Given the description of an element on the screen output the (x, y) to click on. 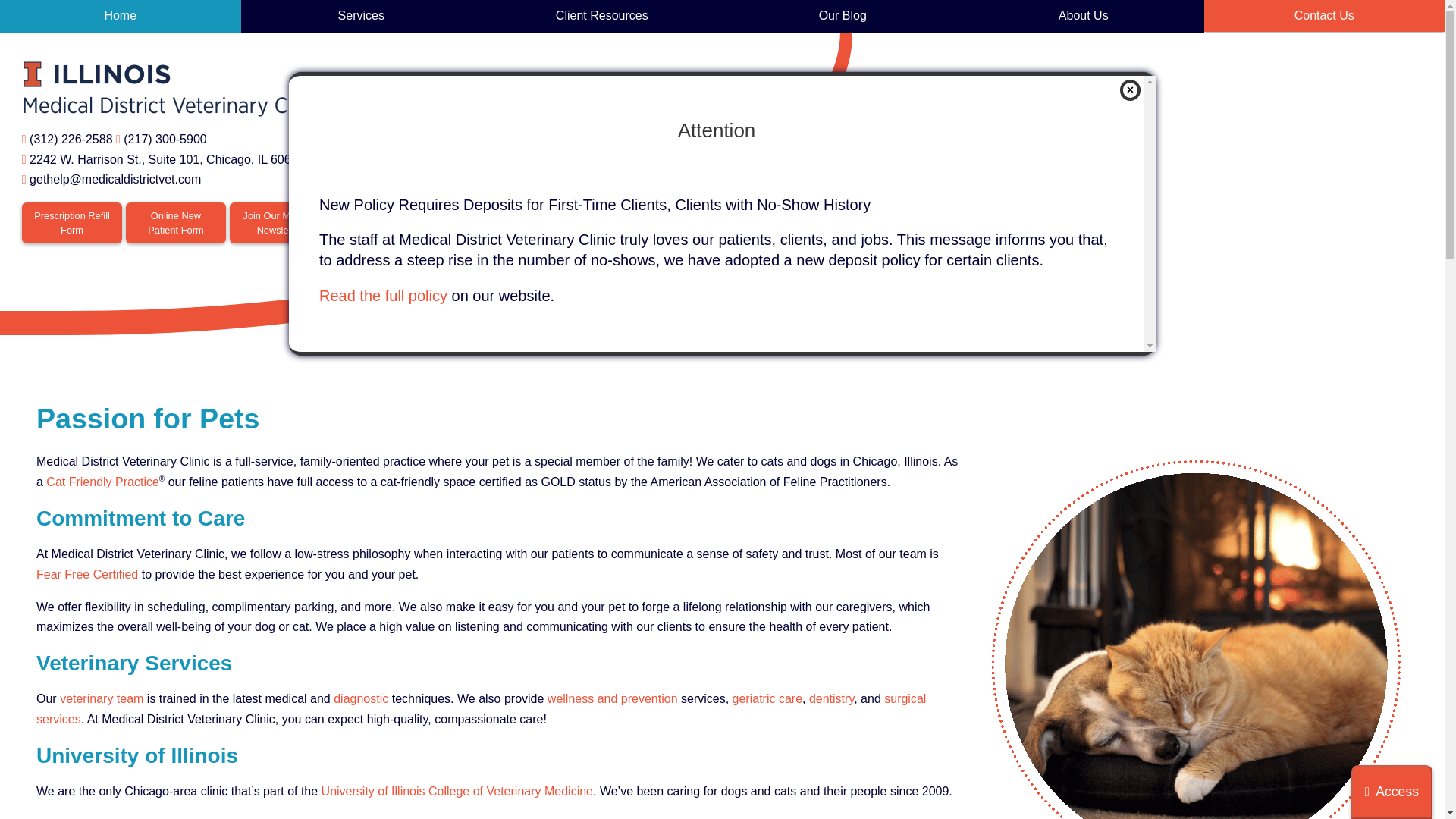
Client Resources (601, 16)
Our Blog (842, 16)
Fear Free Certified (87, 574)
Join Our Monthly Newsletter (280, 222)
Medical District Veterinary Clinic (172, 88)
About Us (1083, 16)
Cat Friendly Practice (175, 222)
Access (102, 481)
diagnostic (1391, 791)
Home (360, 698)
Read the full policy (120, 16)
Prescription Refill Form (382, 295)
2242 W. Harrison St., Suite 101, Chicago, IL 60612 (71, 222)
veterinary team (166, 159)
